Given the description of an element on the screen output the (x, y) to click on. 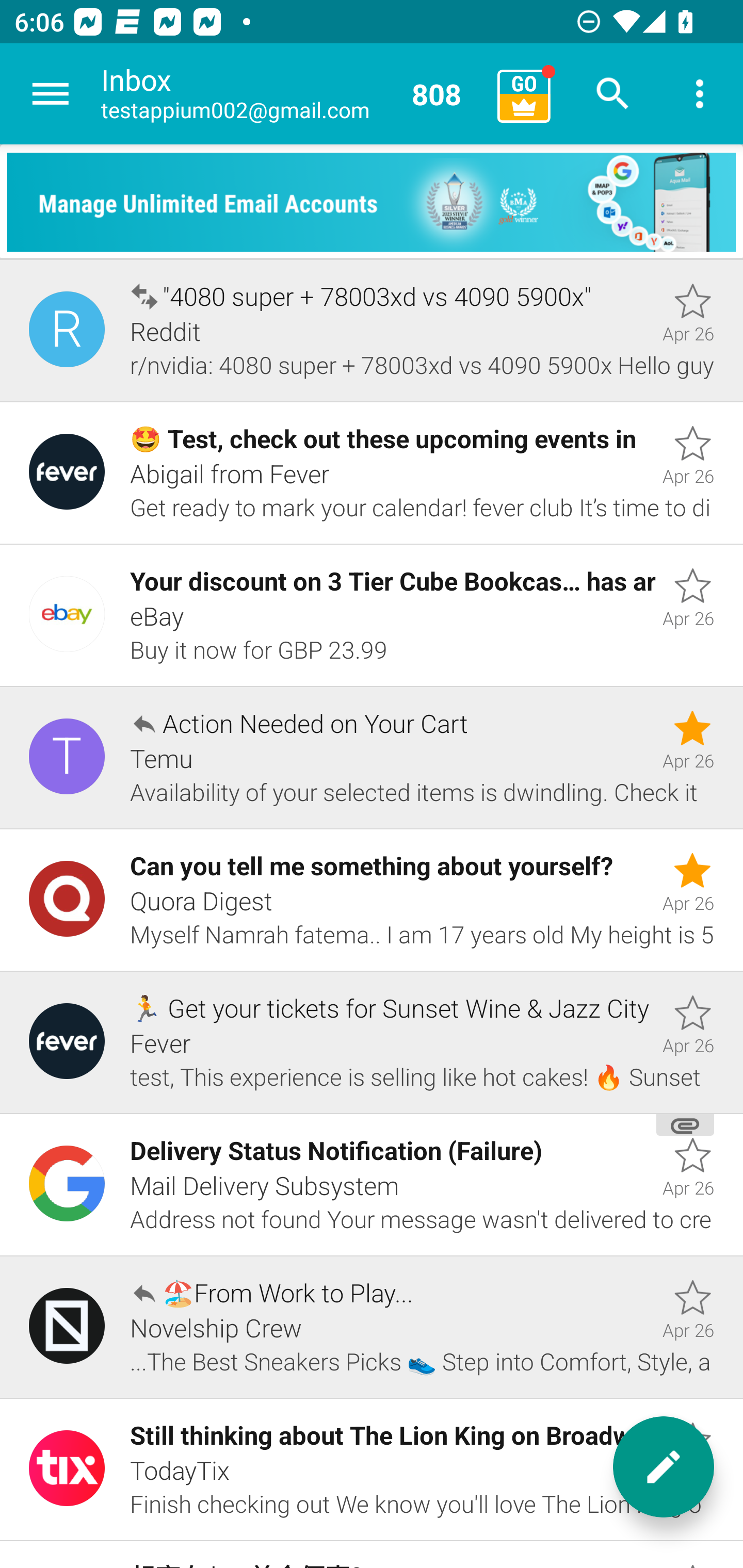
Navigate up (50, 93)
Inbox testappium002@gmail.com 808 (291, 93)
Search (612, 93)
More options (699, 93)
New message (663, 1466)
